Given the description of an element on the screen output the (x, y) to click on. 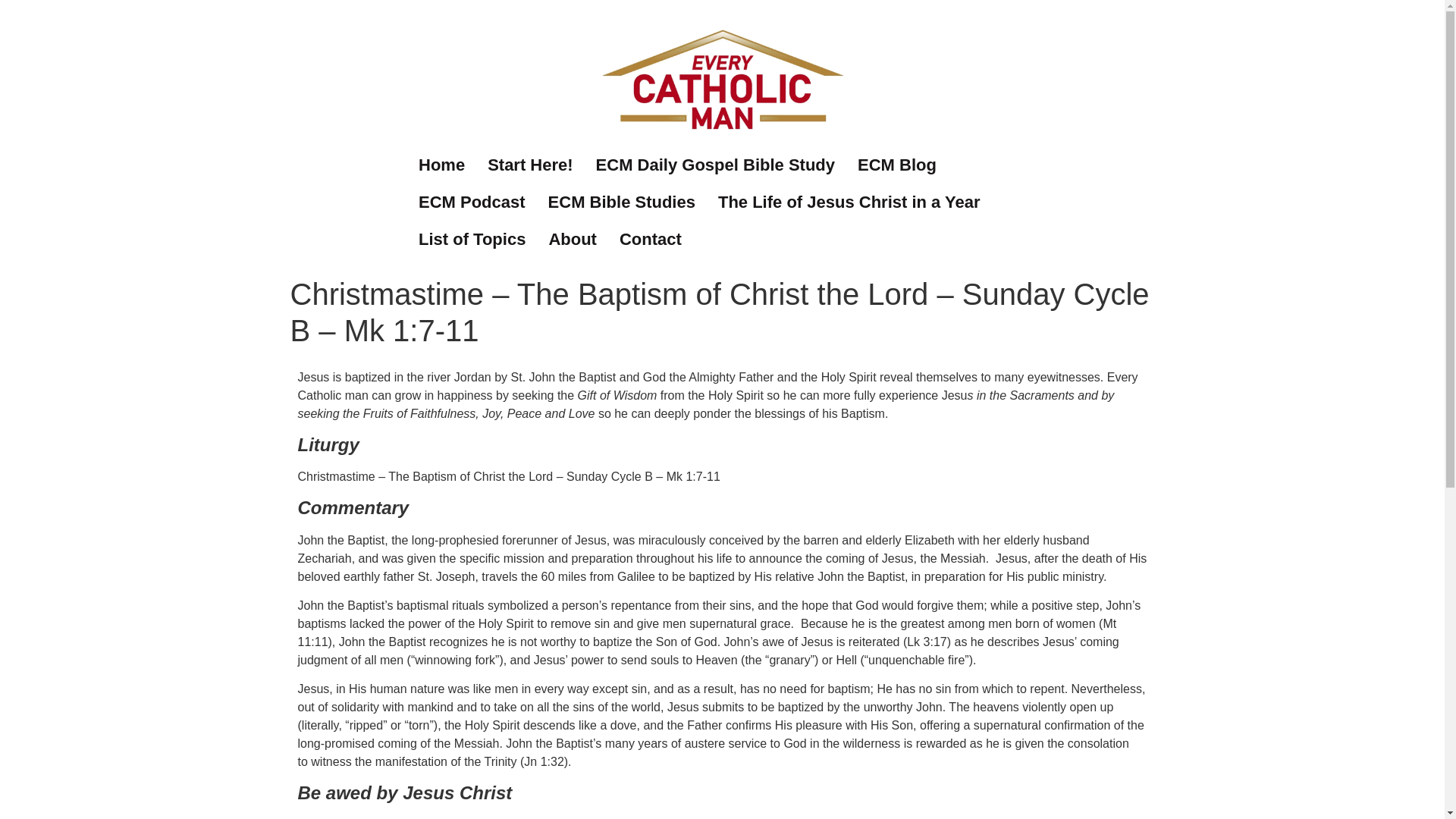
Contact (650, 238)
Home (441, 164)
List of Topics (472, 238)
The Life of Jesus Christ in a Year (848, 201)
ECM Bible Studies (621, 201)
ECM Podcast (472, 201)
About (572, 238)
ECM Daily Gospel Bible Study (715, 164)
ECM Blog (896, 164)
Start Here! (529, 164)
